Given the description of an element on the screen output the (x, y) to click on. 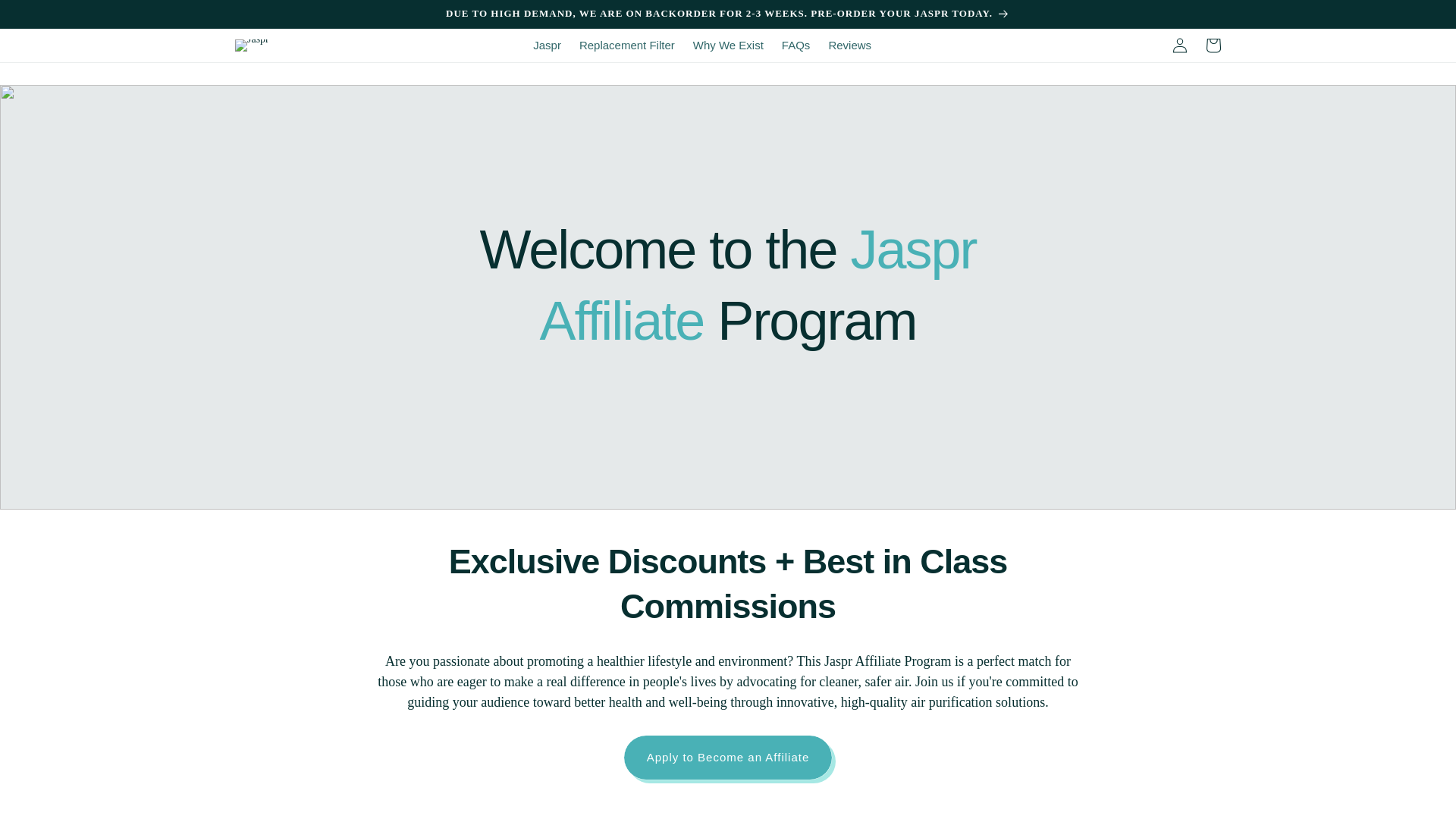
Reviews (849, 45)
Replacement Filter (627, 45)
Why We Exist (728, 45)
Skip to content (45, 16)
FAQs (796, 45)
Jaspr (547, 45)
Cart (1213, 45)
Apply to Become an Affiliate (728, 757)
Log in (1179, 45)
